Given the description of an element on the screen output the (x, y) to click on. 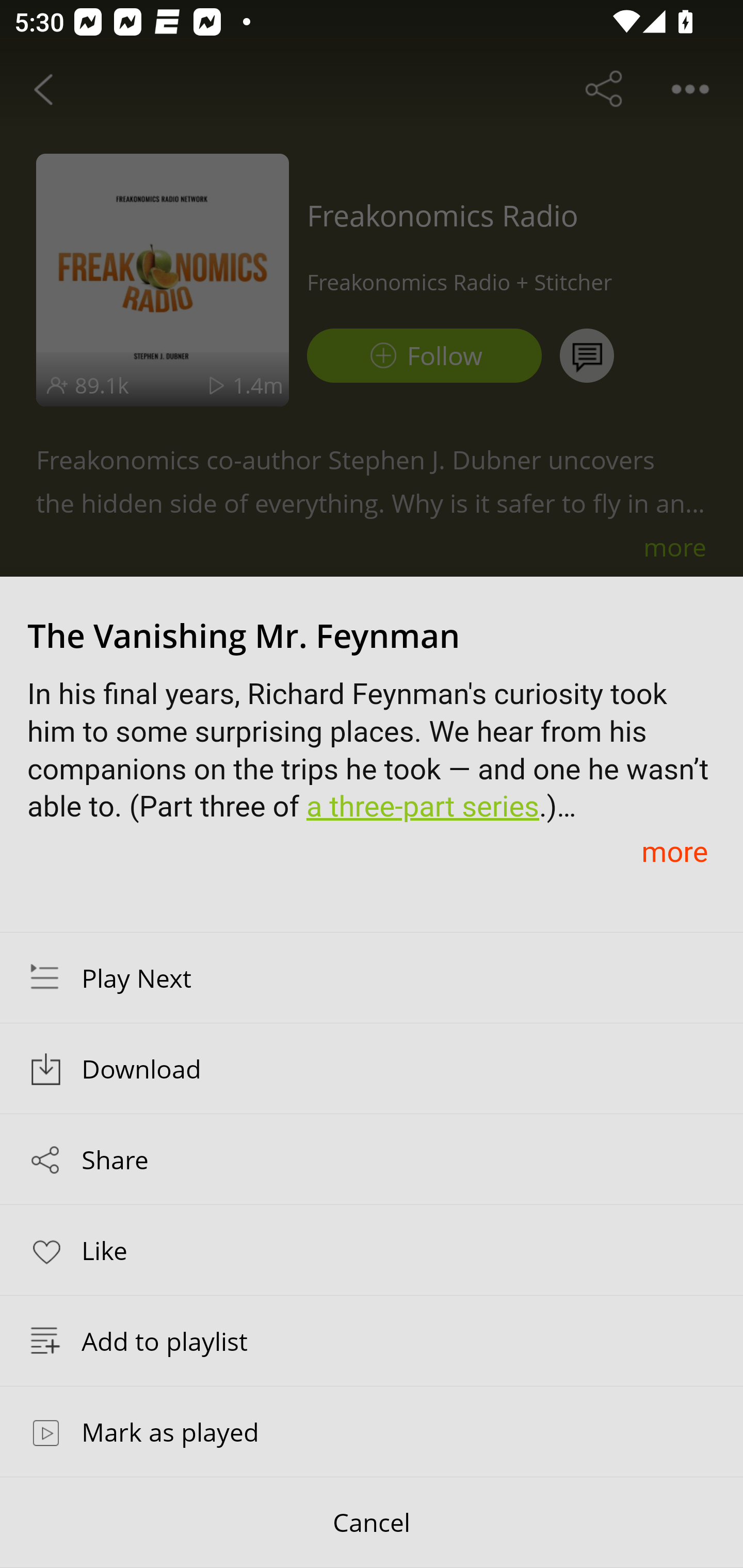
a three-part series (422, 806)
more (674, 851)
Play Next (371, 977)
Download (371, 1068)
Share (371, 1159)
Like (371, 1249)
Add to playlist (371, 1340)
Mark as played (371, 1431)
Cancel (371, 1522)
